Given the description of an element on the screen output the (x, y) to click on. 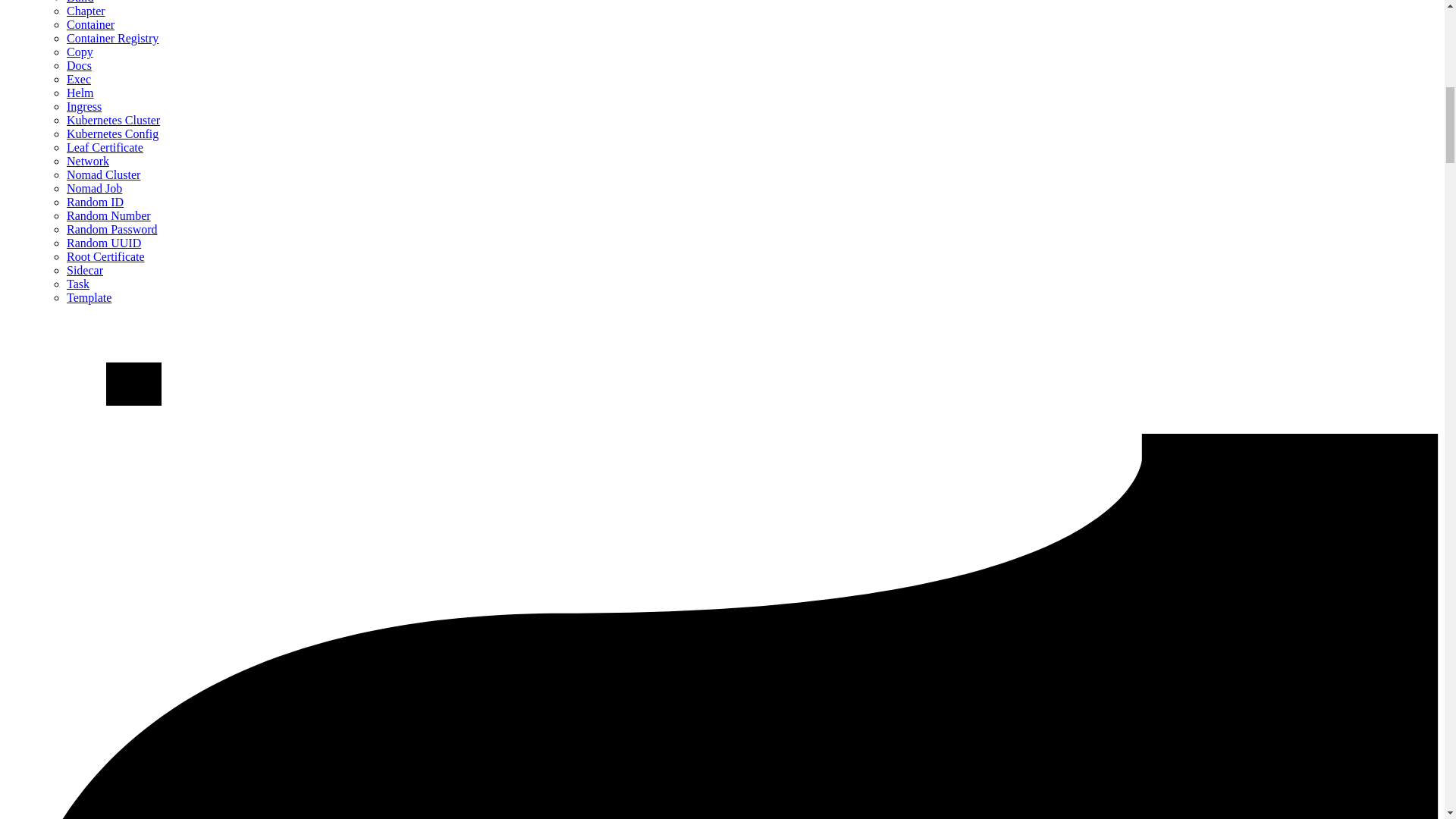
Chapter (85, 10)
Build (80, 2)
